Given the description of an element on the screen output the (x, y) to click on. 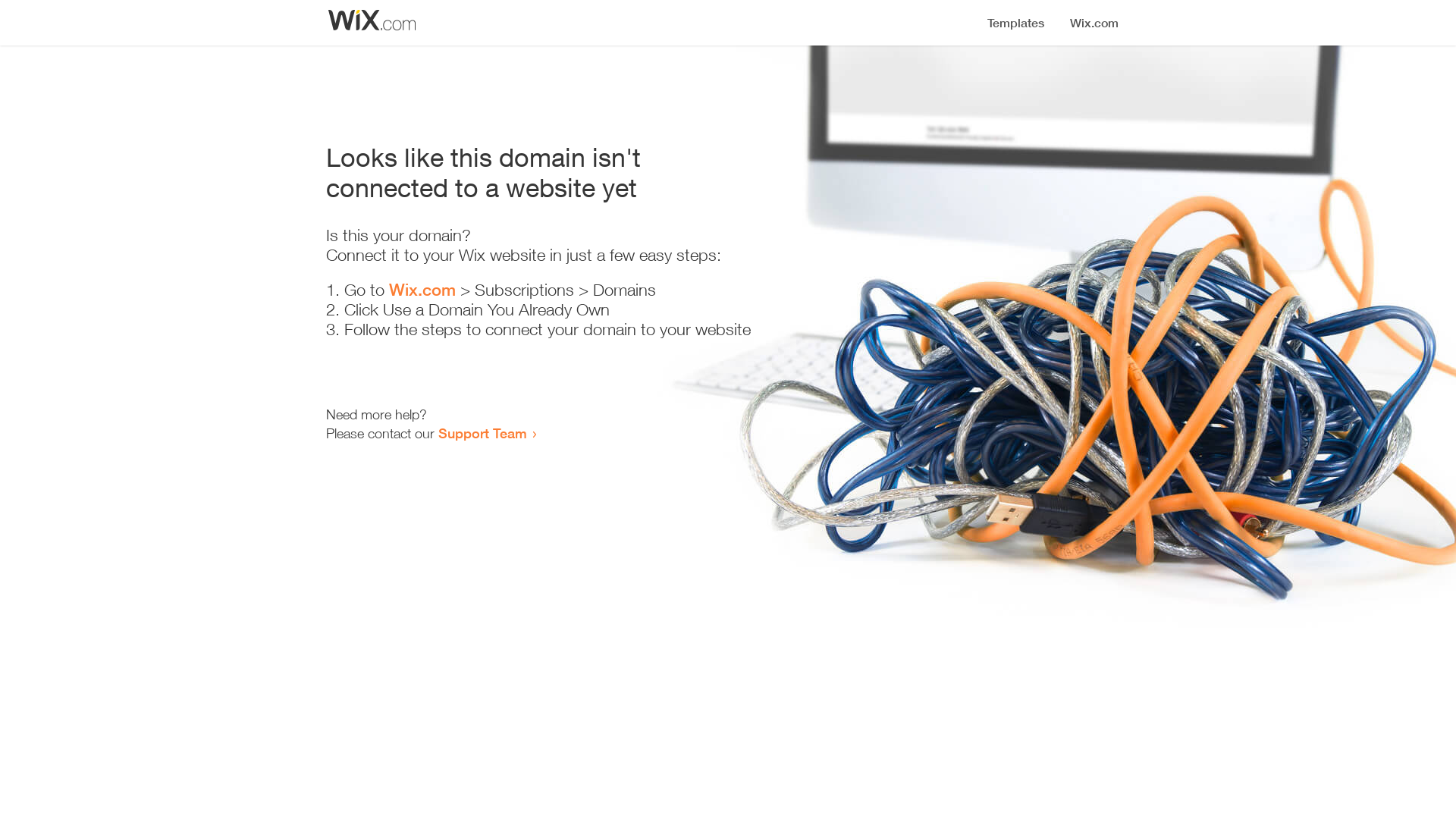
Wix.com Element type: text (422, 289)
Support Team Element type: text (482, 432)
